Given the description of an element on the screen output the (x, y) to click on. 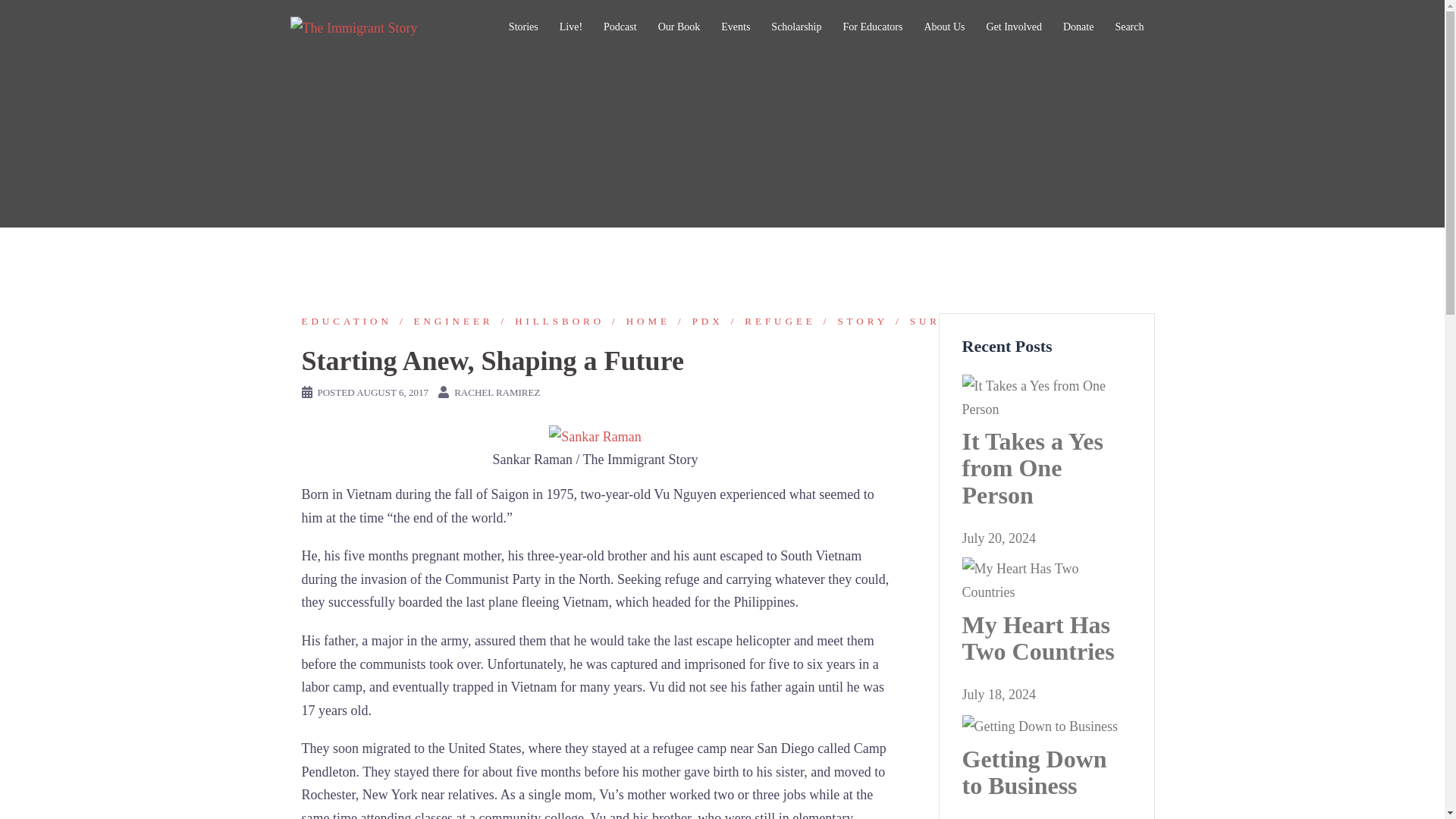
Home (636, 320)
Refugee (769, 320)
Podcast (620, 27)
Scholarship (796, 27)
For Educators (872, 27)
Story (851, 320)
Our Book (679, 27)
The Immigrant Story (352, 26)
Survivor (939, 320)
Hillsboro (549, 320)
